Given the description of an element on the screen output the (x, y) to click on. 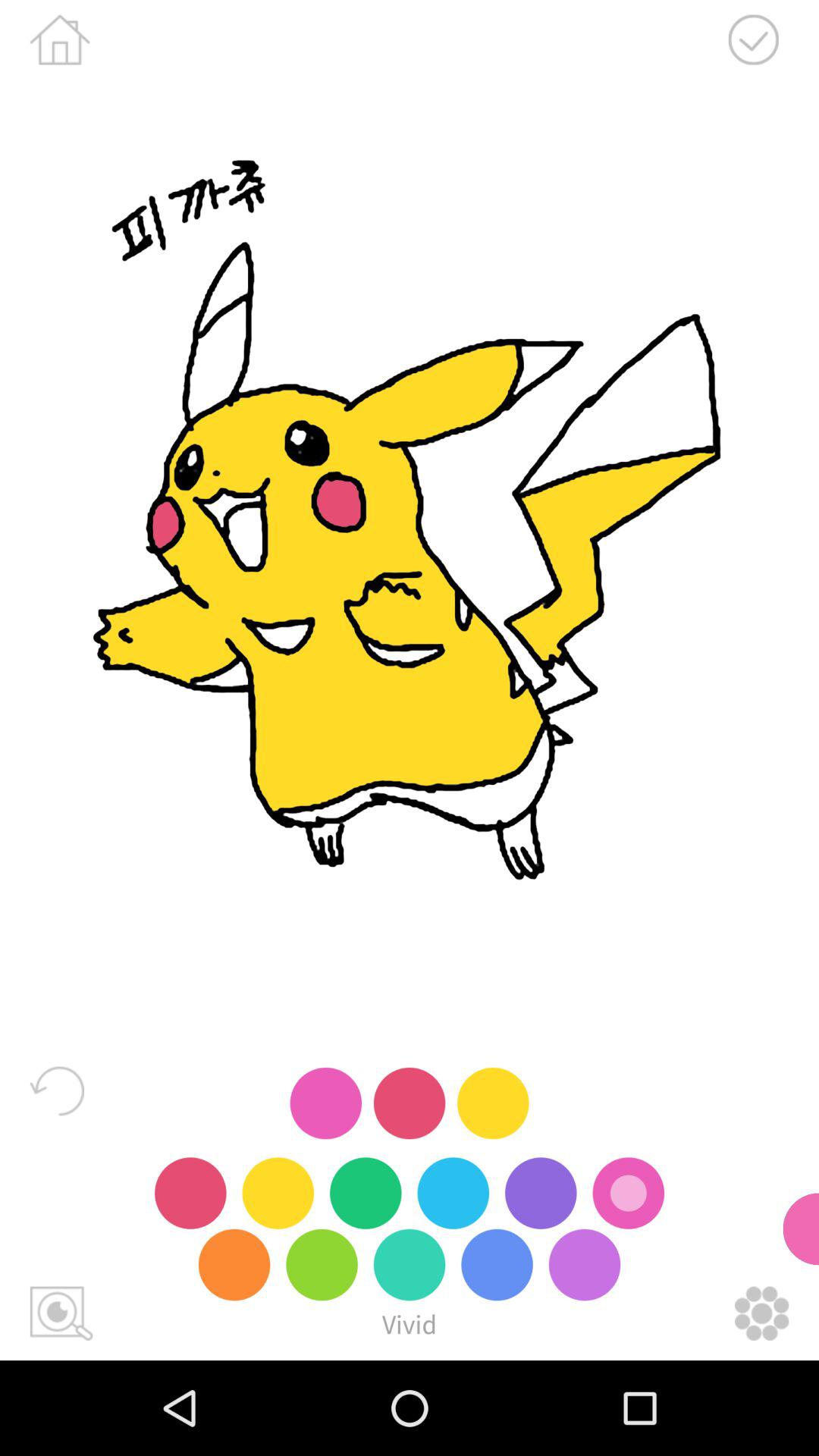
zoom in or out (61, 1313)
